Given the description of an element on the screen output the (x, y) to click on. 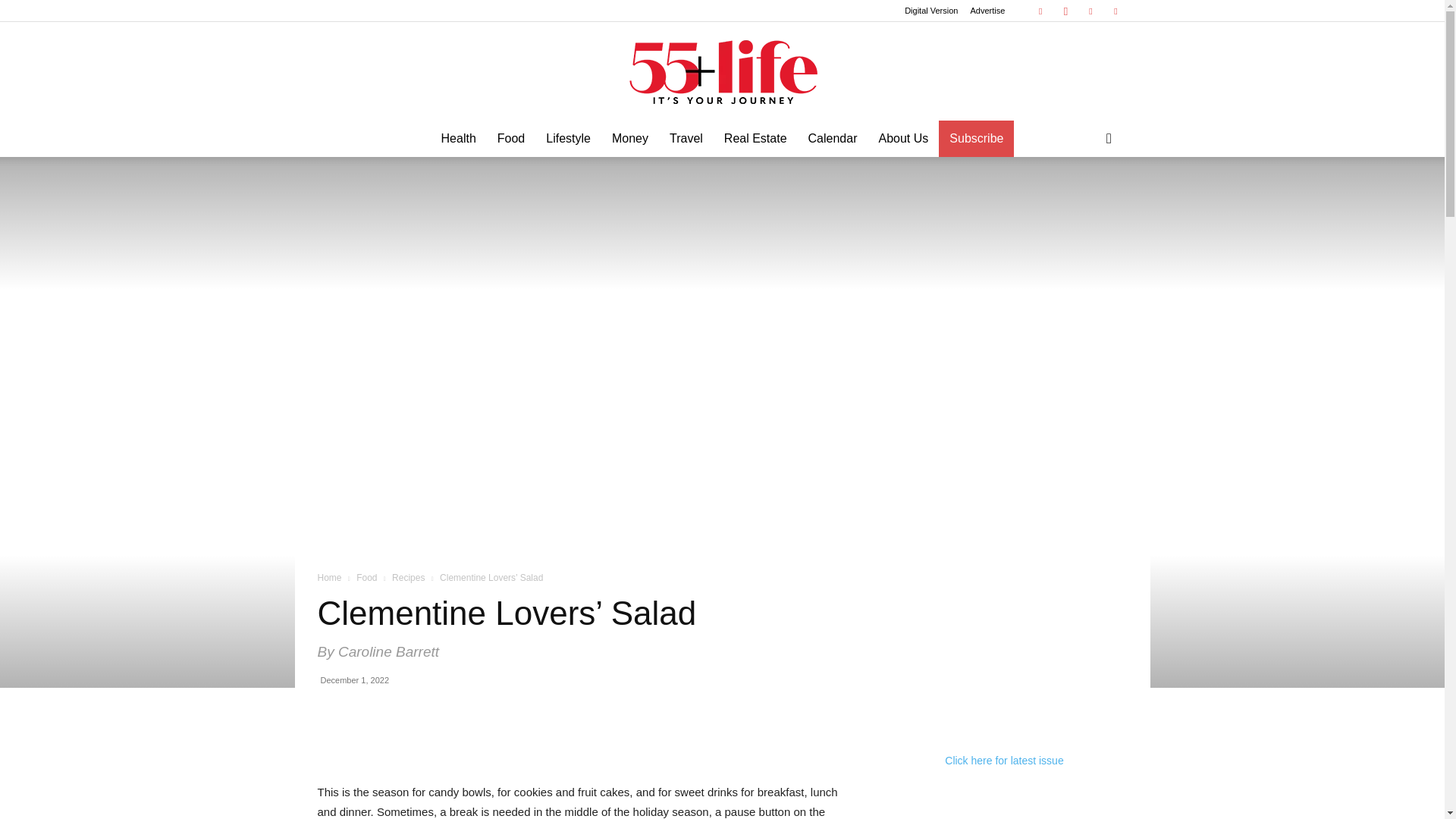
View all posts in Food (366, 577)
View all posts in Recipes (408, 577)
Pinterest (1114, 10)
Instagram (1065, 10)
Facebook (1040, 10)
Linkedin (1090, 10)
